Given the description of an element on the screen output the (x, y) to click on. 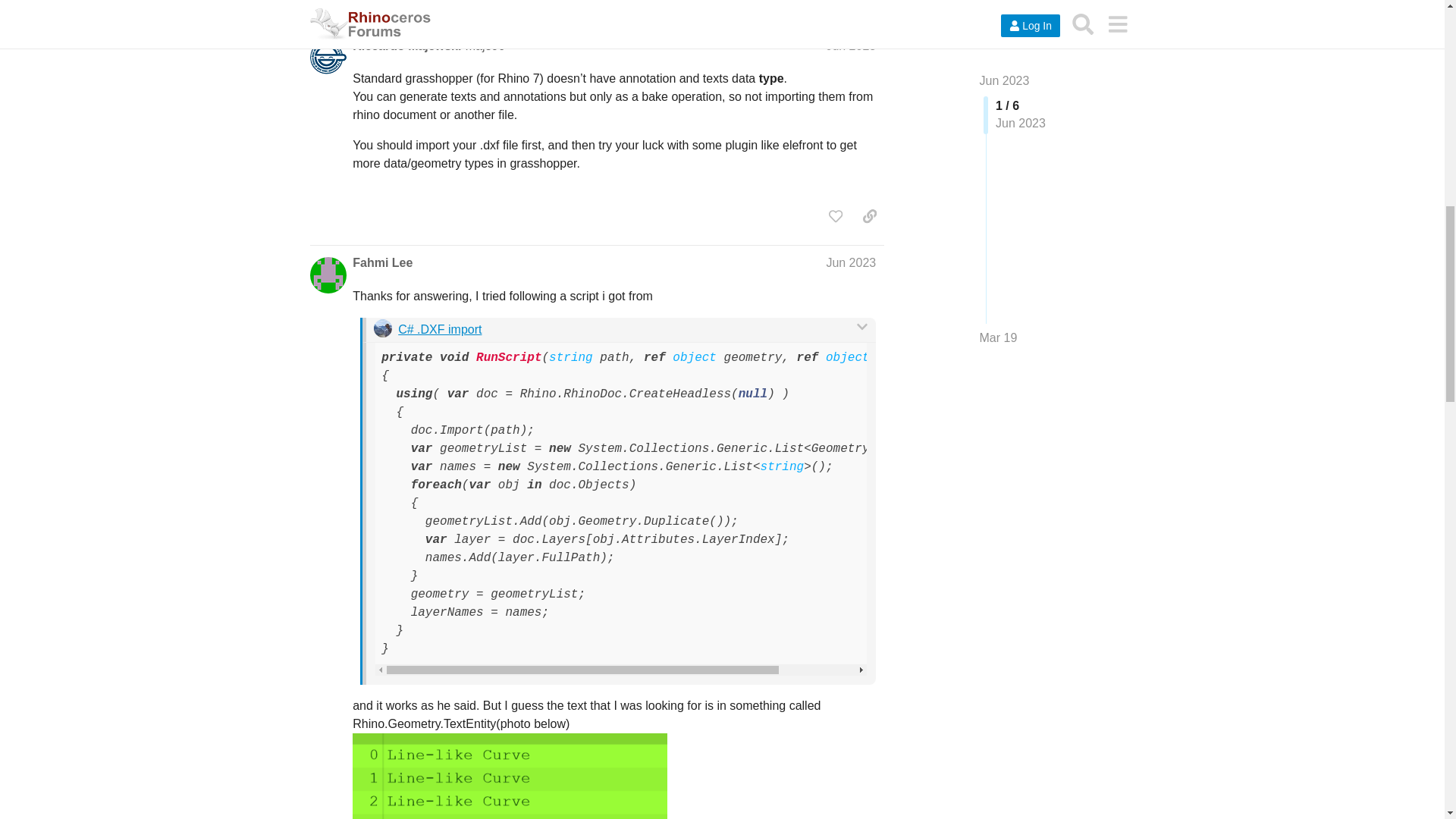
maje90 (485, 45)
expand topic details (857, 0)
Riccardo Majewski (406, 45)
Jun 2023 (850, 45)
